Given the description of an element on the screen output the (x, y) to click on. 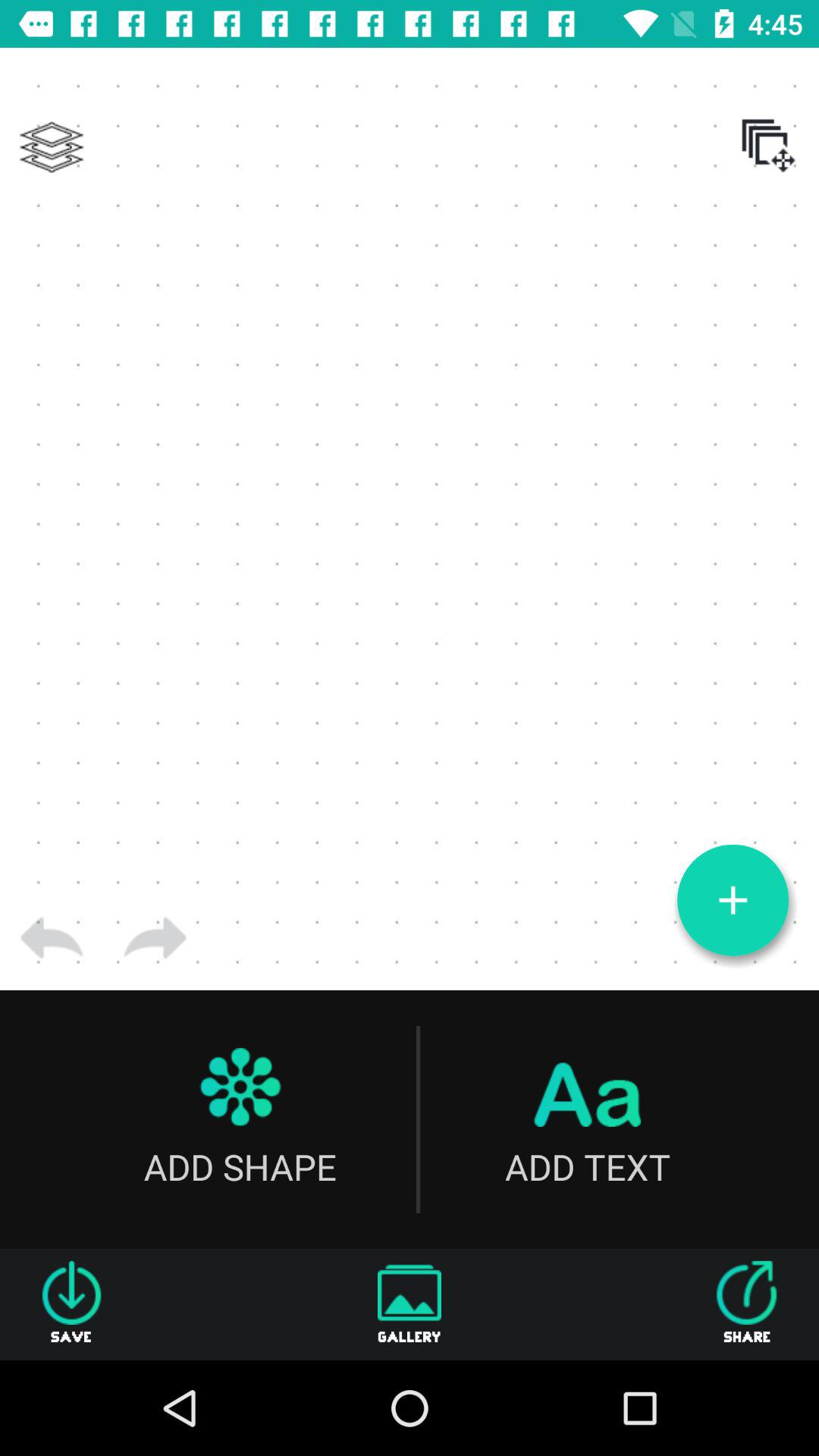
tap the item to the left of gallery (71, 1304)
